Given the description of an element on the screen output the (x, y) to click on. 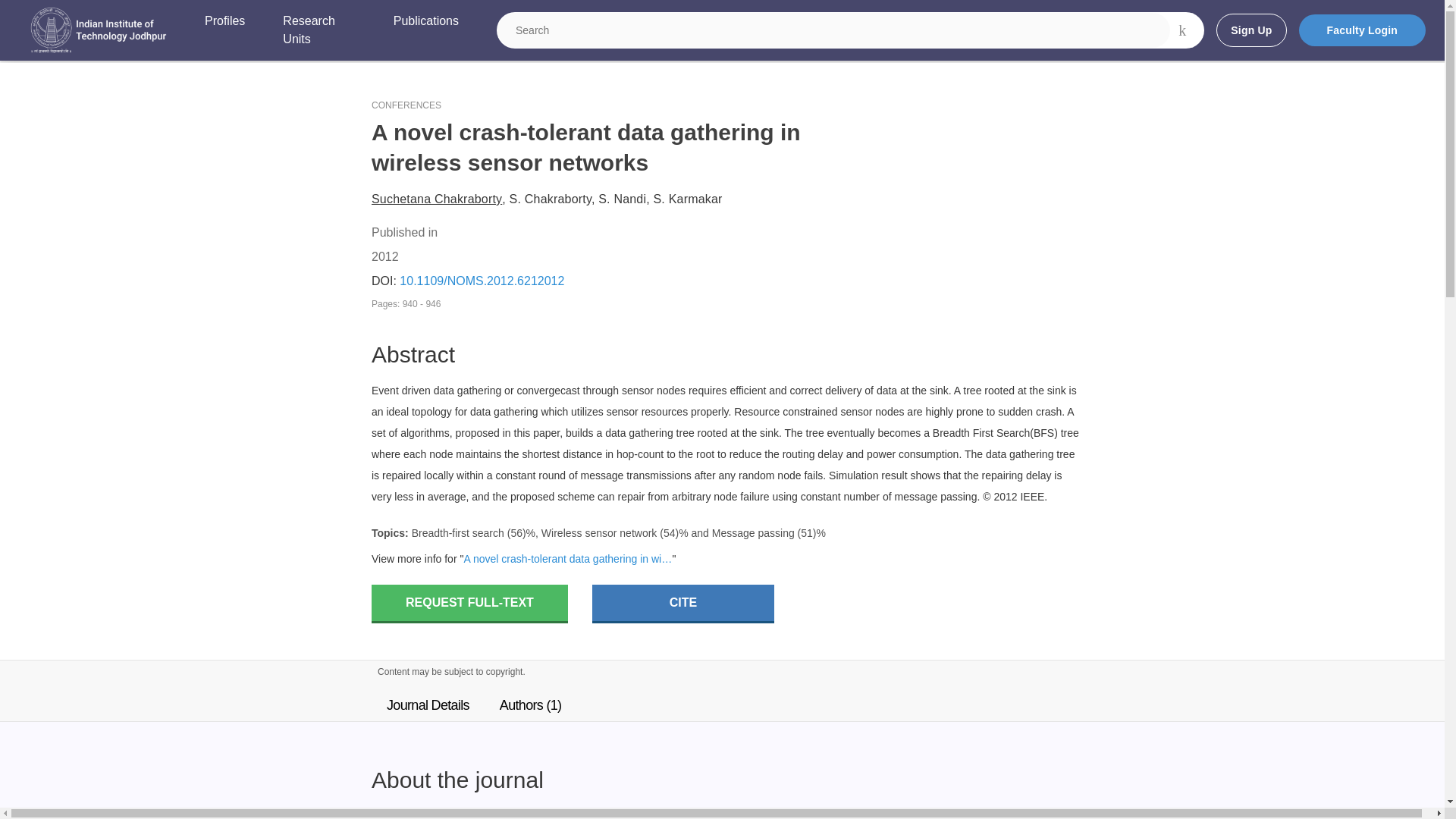
Message passing (752, 532)
Wireless sensor network (599, 532)
Publications (425, 30)
Sign Up (1250, 29)
Institution logo (98, 30)
Research Units (318, 30)
Suchetana Chakraborty (436, 198)
CITE (683, 603)
Journal Details (427, 705)
